Given the description of an element on the screen output the (x, y) to click on. 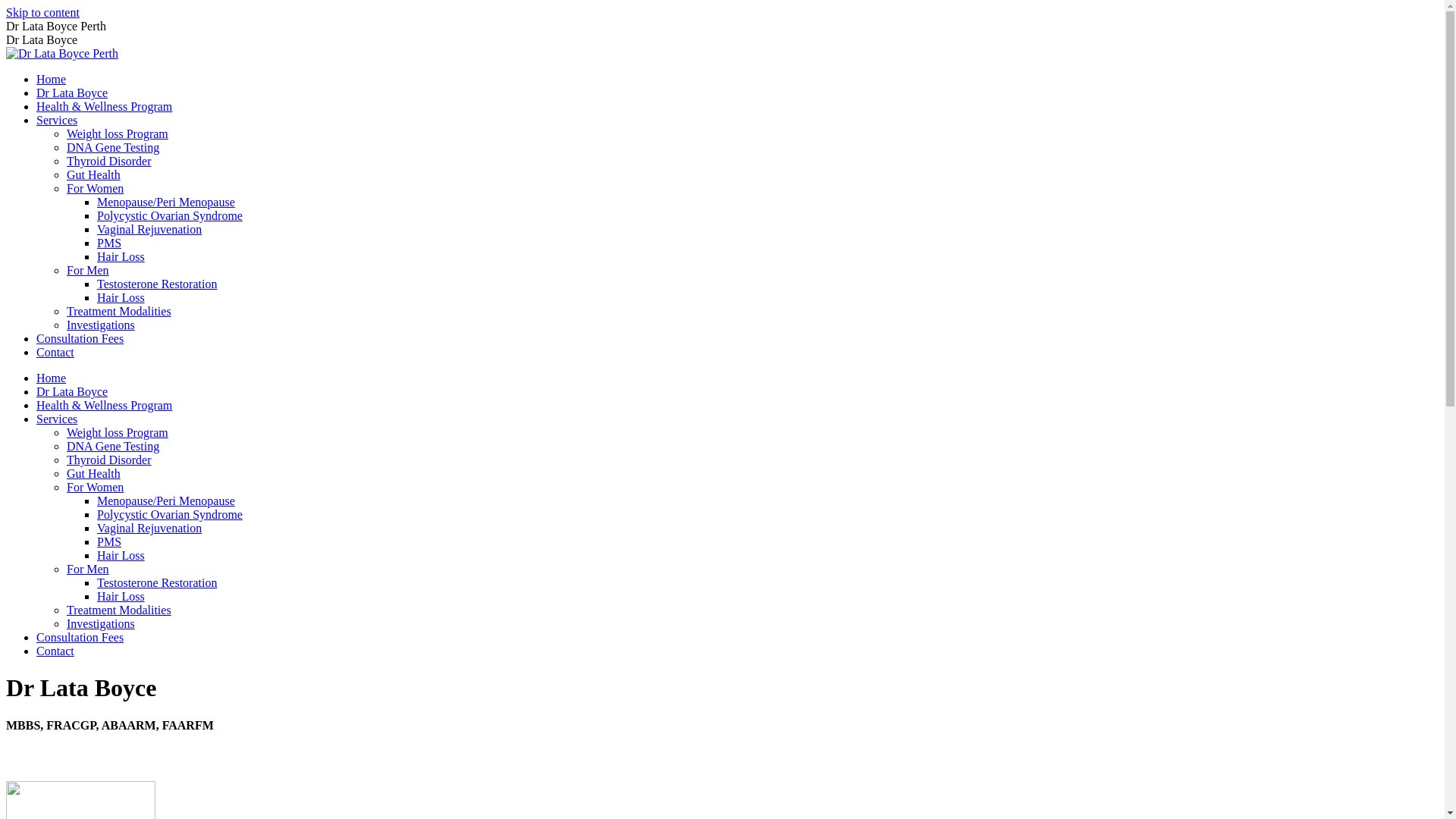
Hair Loss Element type: text (120, 555)
Treatment Modalities Element type: text (118, 609)
For Women Element type: text (94, 188)
Investigations Element type: text (100, 623)
Thyroid Disorder Element type: text (108, 459)
For Men Element type: text (87, 568)
Vaginal Rejuvenation Element type: text (149, 527)
Gut Health Element type: text (93, 174)
Weight loss Program Element type: text (117, 432)
Testosterone Restoration Element type: text (156, 582)
Skip to content Element type: text (42, 12)
Services Element type: text (56, 119)
Services Element type: text (56, 418)
PMS Element type: text (109, 541)
Contact Element type: text (55, 351)
PMS Element type: text (109, 242)
Vaginal Rejuvenation Element type: text (149, 228)
For Men Element type: text (87, 269)
Weight loss Program Element type: text (117, 133)
For Women Element type: text (94, 486)
Home Element type: text (50, 377)
Investigations Element type: text (100, 324)
Contact Element type: text (55, 650)
Thyroid Disorder Element type: text (108, 160)
Dr Lata Boyce Element type: text (71, 92)
DNA Gene Testing Element type: text (112, 147)
Gut Health Element type: text (93, 473)
Health & Wellness Program Element type: text (104, 404)
Health & Wellness Program Element type: text (104, 106)
Menopause/Peri Menopause Element type: text (166, 201)
Hair Loss Element type: text (120, 595)
Polycystic Ovarian Syndrome Element type: text (169, 514)
Home Element type: text (50, 78)
Consultation Fees Element type: text (79, 636)
Hair Loss Element type: text (120, 256)
Hair Loss Element type: text (120, 297)
DNA Gene Testing Element type: text (112, 445)
Dr Lata Boyce Element type: text (71, 391)
Polycystic Ovarian Syndrome Element type: text (169, 215)
Testosterone Restoration Element type: text (156, 283)
Consultation Fees Element type: text (79, 338)
Treatment Modalities Element type: text (118, 310)
Menopause/Peri Menopause Element type: text (166, 500)
